Given the description of an element on the screen output the (x, y) to click on. 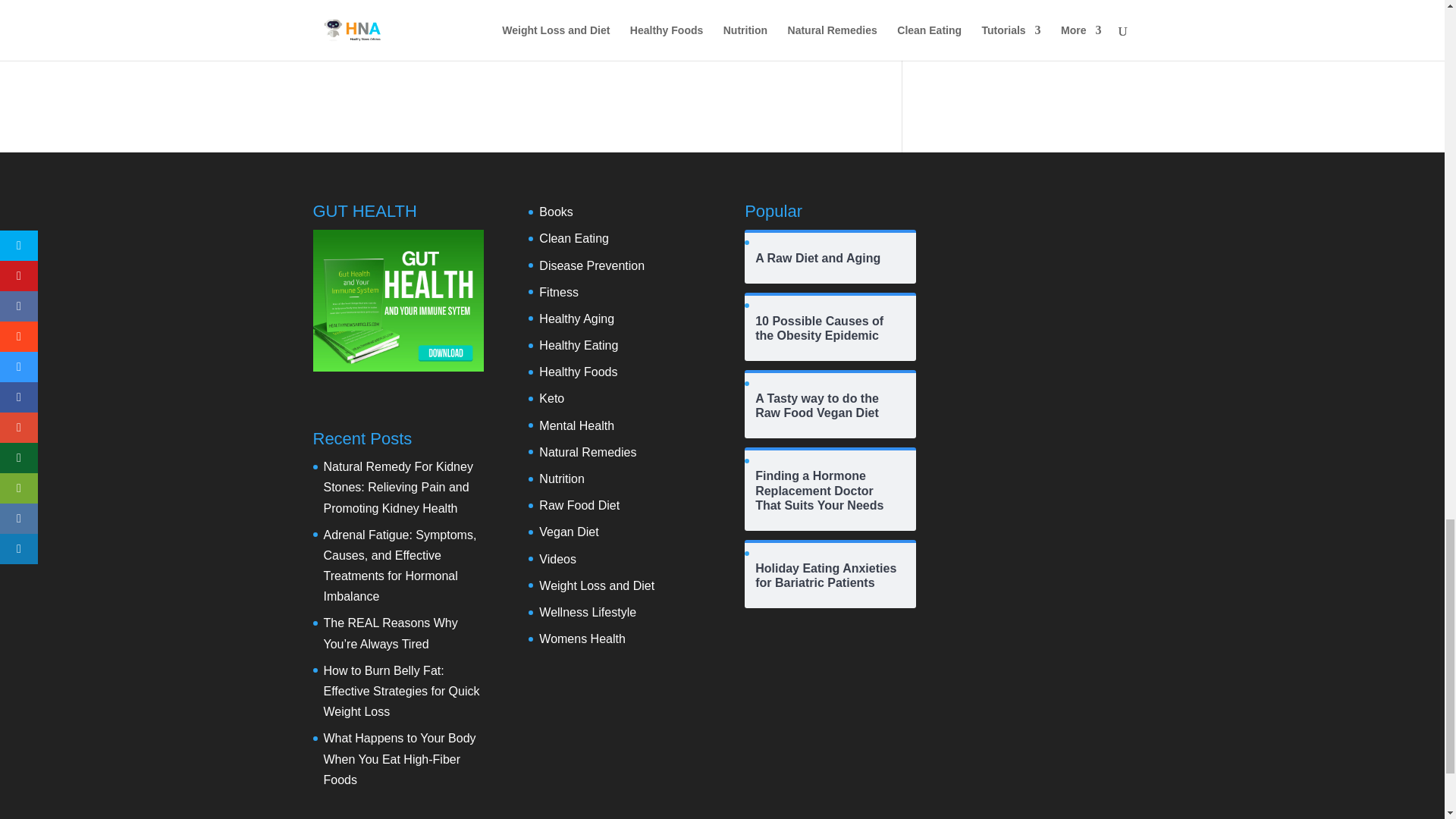
Be Competitive to Lose Weight and Get Fit (396, 11)
Food Calorie Counters Are The Key To Losing Weight (766, 11)
Be Competitive to Lose Weight and Get Fit (396, 11)
Food Calorie Counters Are The Key To Losing Weight (766, 11)
Top 5 Keto Diet Apps (548, 3)
